Given the description of an element on the screen output the (x, y) to click on. 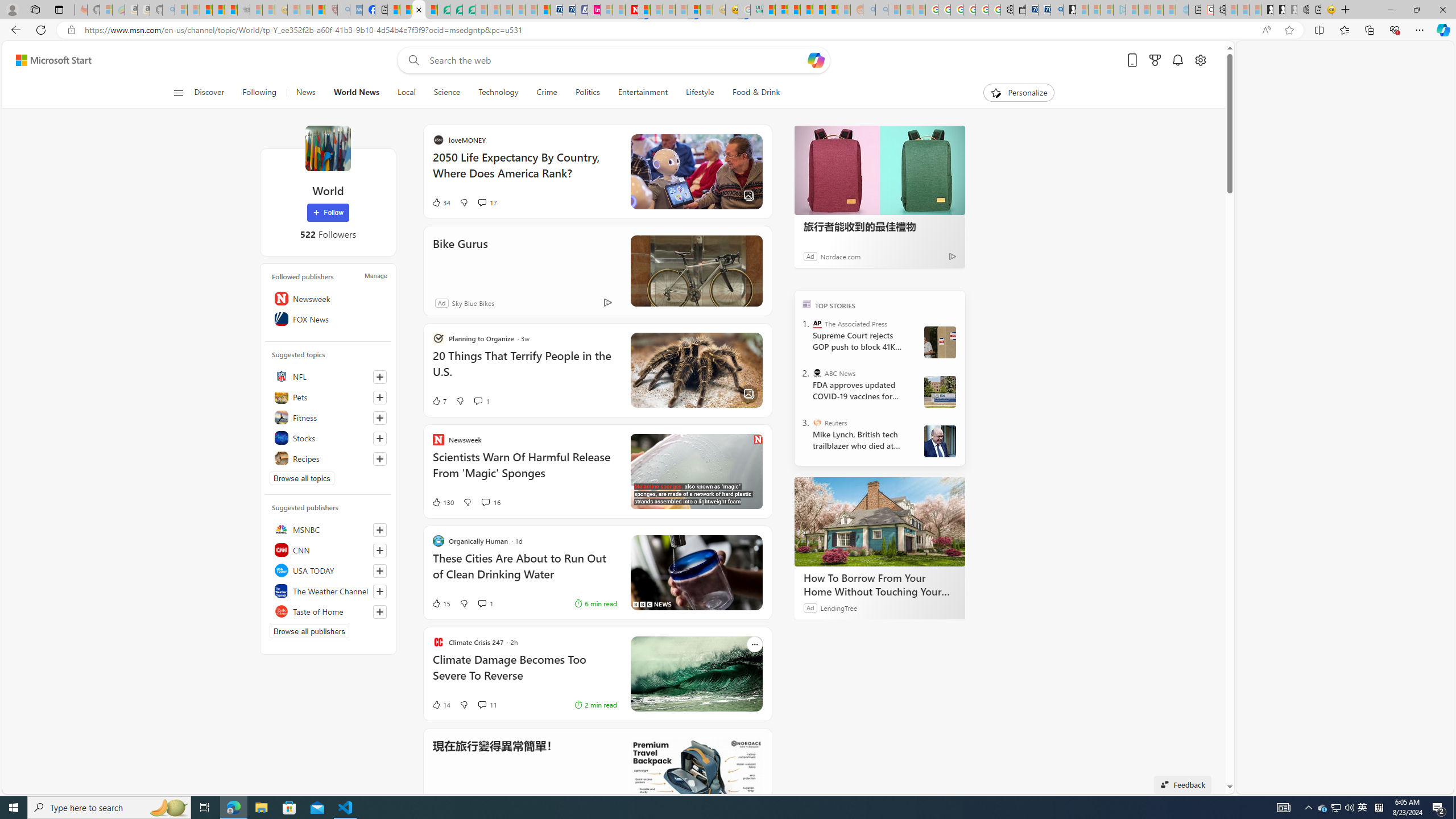
NFL (327, 376)
Microsoft Word - consumer-privacy address update 2.2021 (468, 9)
FOX News (327, 318)
World (327, 148)
View comments 16 Comment (490, 502)
